Given the description of an element on the screen output the (x, y) to click on. 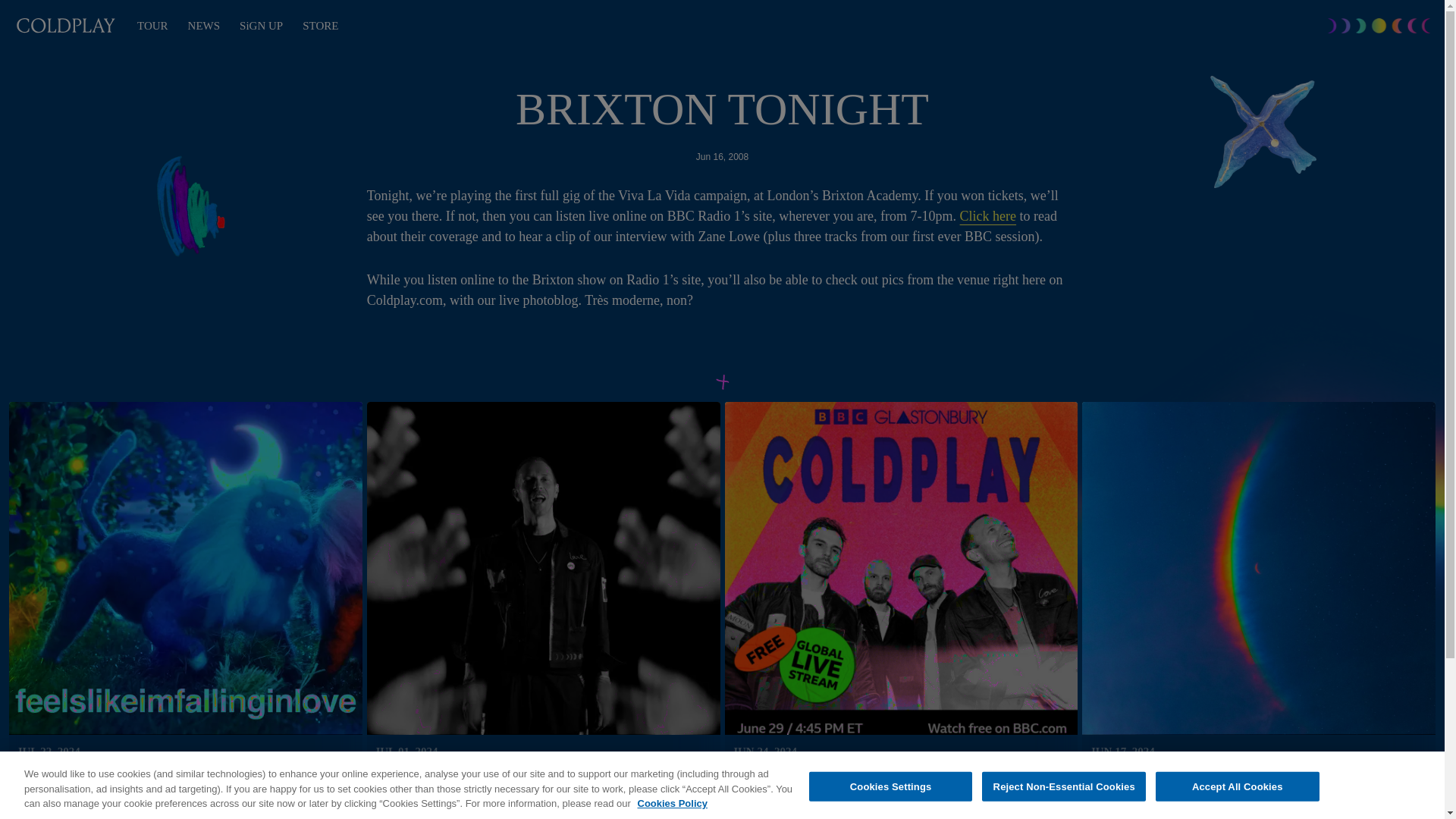
Accept All Cookies (1237, 786)
SiGN UP (261, 25)
Cookies Policy (671, 803)
Cookies Settings (890, 786)
TOUR (152, 25)
Coldplay (65, 25)
STORE (319, 25)
Click here (987, 216)
Reject Non-Essential Cookies (1063, 786)
NEWS (204, 25)
